Given the description of an element on the screen output the (x, y) to click on. 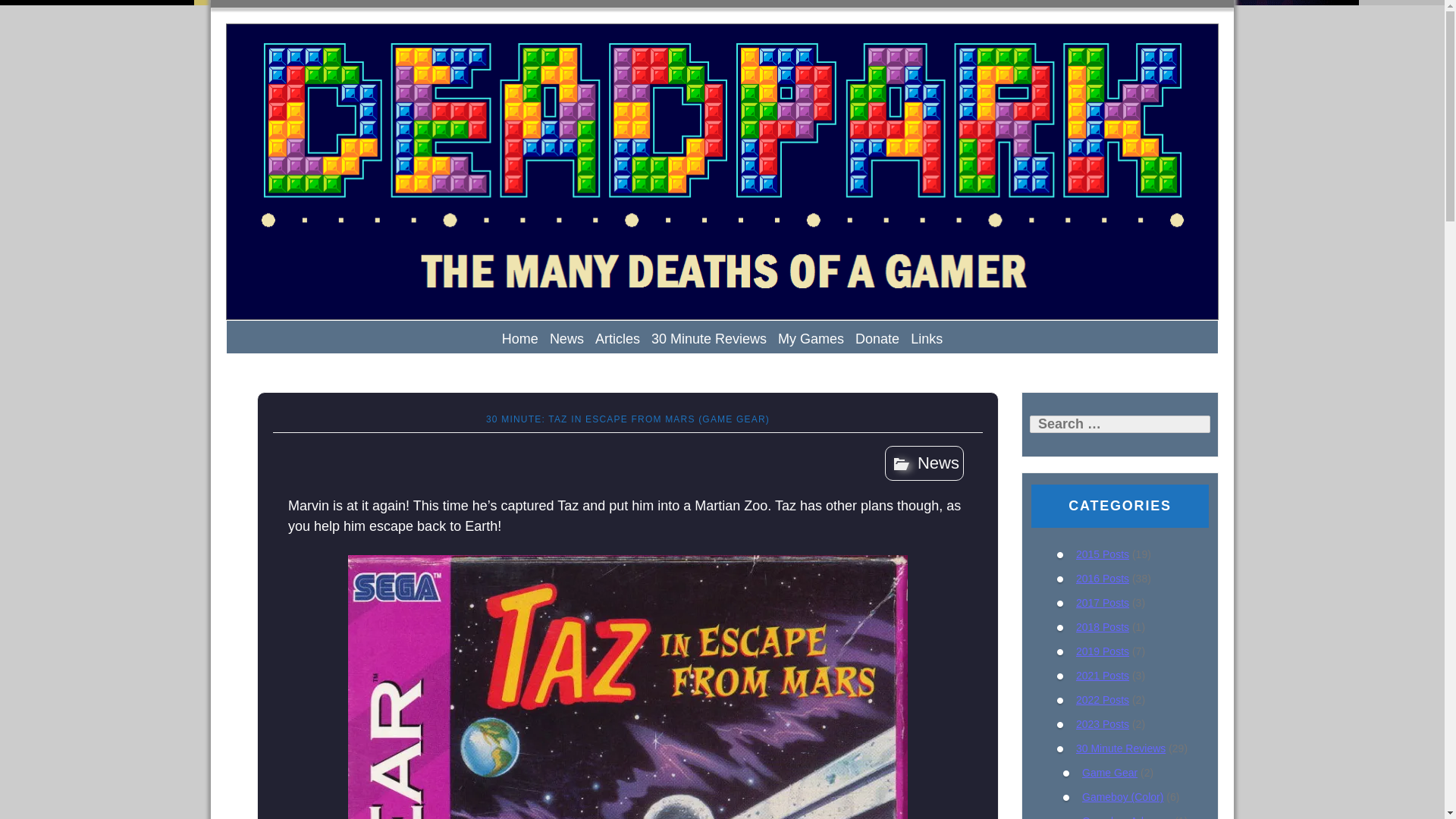
30 Minute Reviews (708, 338)
2023 Posts (1102, 724)
Articles (617, 338)
2022 Posts (1102, 699)
Game Gear (1109, 772)
2018 Posts (1102, 626)
Donate (876, 338)
News (567, 338)
2021 Posts (1102, 675)
2017 Posts (1102, 603)
2015 Posts (1102, 553)
Gameboy Advance (1126, 816)
My Games (810, 338)
2019 Posts (1102, 651)
30 Minute Reviews (1120, 748)
